Given the description of an element on the screen output the (x, y) to click on. 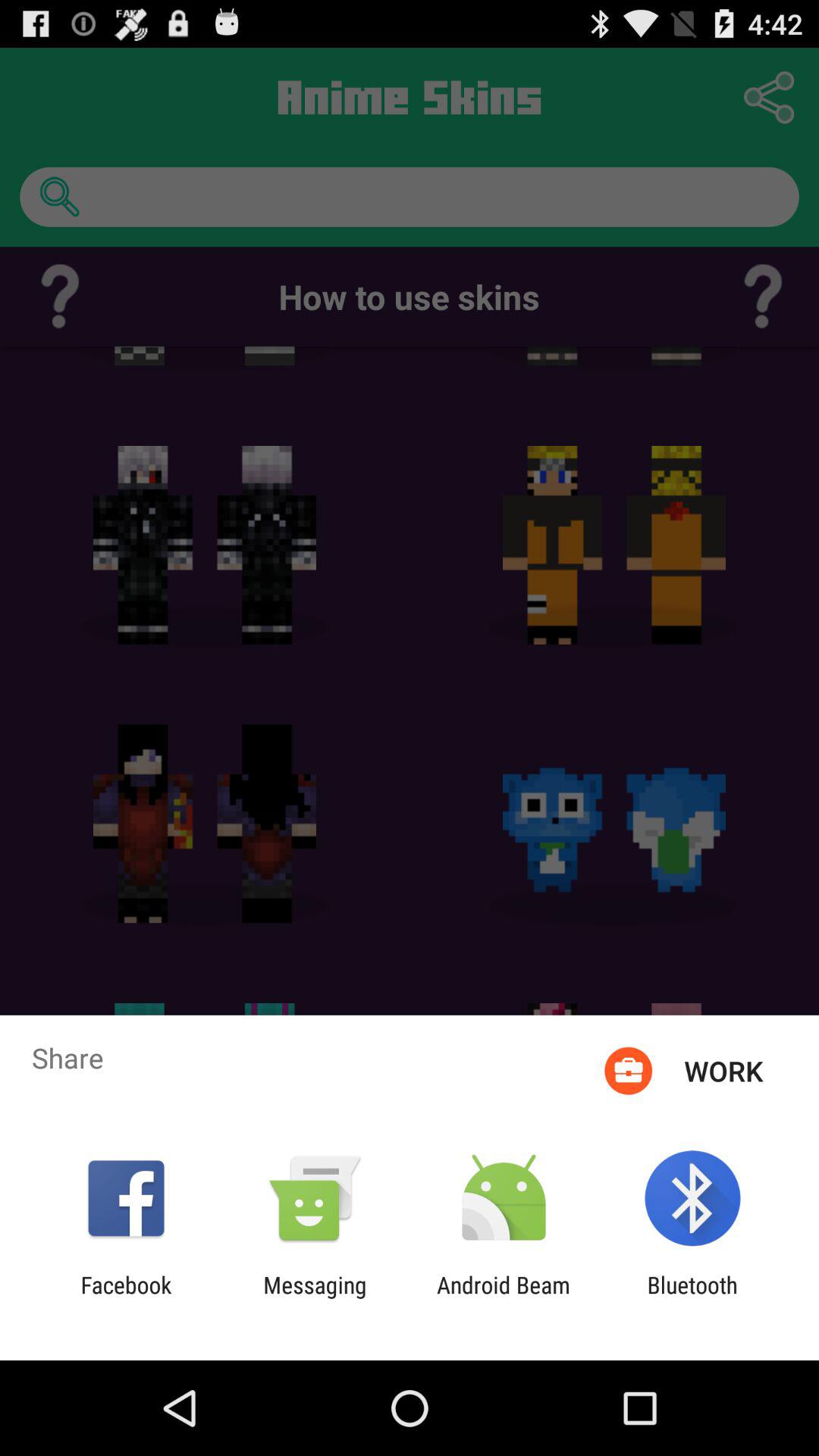
turn on the item to the left of the messaging item (125, 1298)
